Given the description of an element on the screen output the (x, y) to click on. 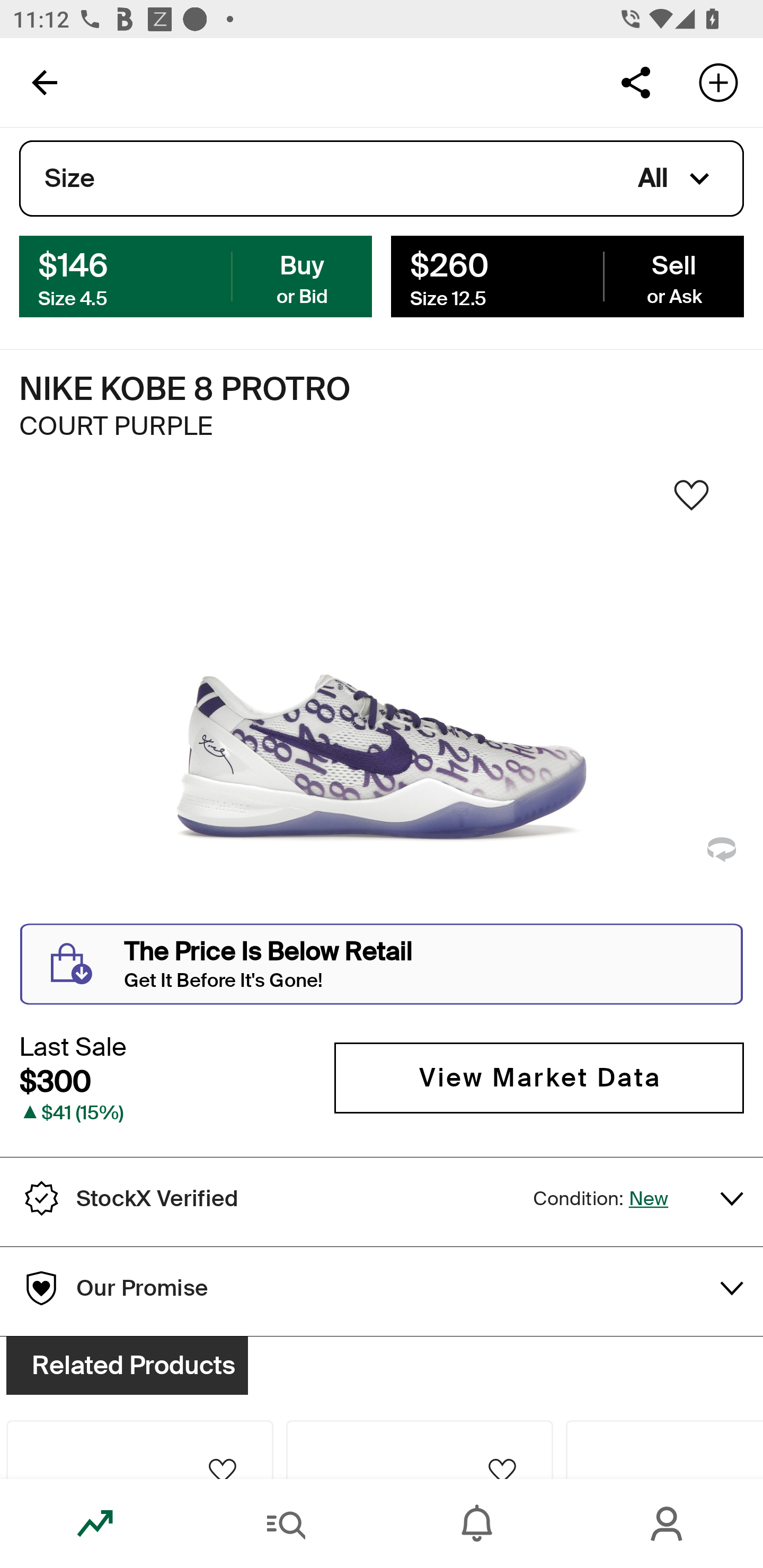
Share (635, 81)
Add (718, 81)
Size All (381, 178)
$146 Buy Size 4.5 or Bid (195, 275)
$260 Sell Size 12.5 or Ask (566, 275)
Sneaker Image (381, 699)
View Market Data (538, 1077)
Search (285, 1523)
Inbox (476, 1523)
Account (667, 1523)
